Given the description of an element on the screen output the (x, y) to click on. 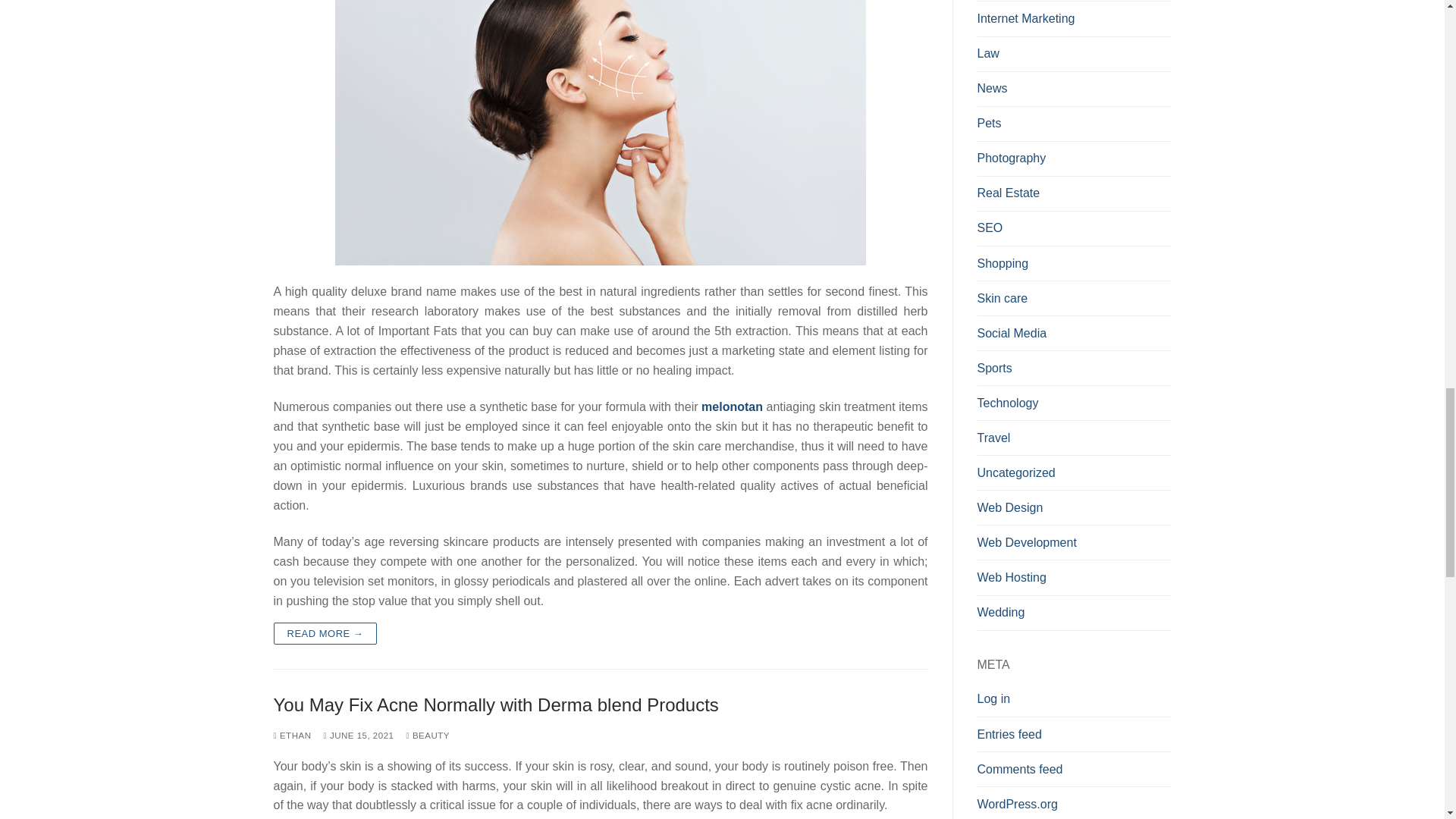
ETHAN (292, 735)
melonotan (731, 406)
BEAUTY (427, 735)
You May Fix Acne Normally with Derma blend Products (600, 704)
You May Fix Acne Normally with Derma blend Products (600, 704)
JUNE 15, 2021 (358, 735)
